Given the description of an element on the screen output the (x, y) to click on. 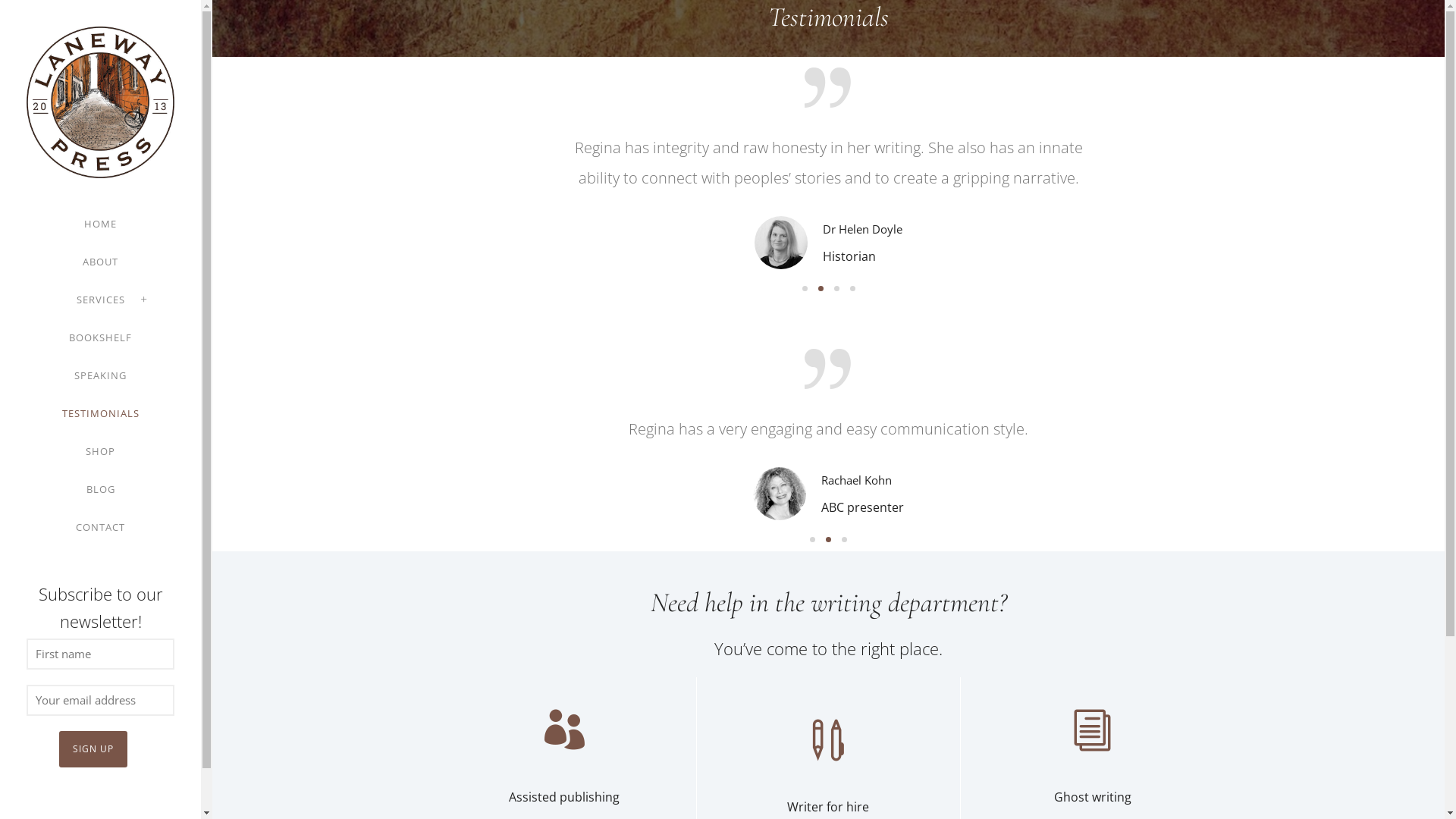
TESTIMONIALS Element type: text (100, 413)
BLOG Element type: text (100, 488)
SHOP Element type: text (100, 451)
CONTACT Element type: text (100, 526)
SPEAKING Element type: text (100, 375)
Sign up Element type: text (93, 749)
ABOUT Element type: text (100, 261)
SERVICES Element type: text (99, 299)
HOME Element type: text (100, 223)
BOOKSHELF Element type: text (100, 337)
